Given the description of an element on the screen output the (x, y) to click on. 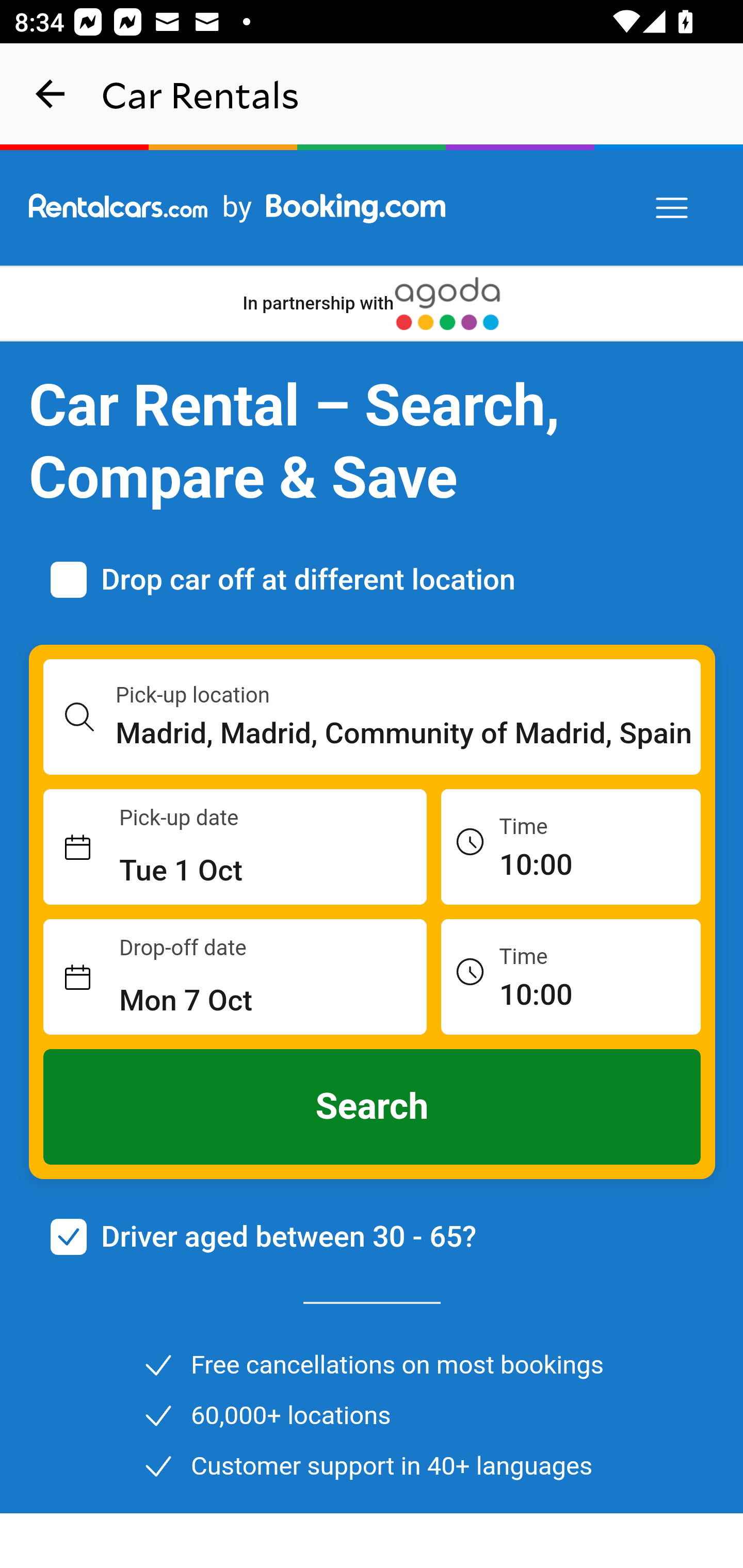
navigation_button (50, 93)
Menu (672, 208)
Madrid, Madrid, Community of Madrid, Spain (408, 733)
Pick-up date Tue 1 Oct (235, 847)
10:00 (571, 845)
Drop-off date Mon 7 Oct (235, 977)
10:00 (571, 975)
Search (372, 1106)
